Given the description of an element on the screen output the (x, y) to click on. 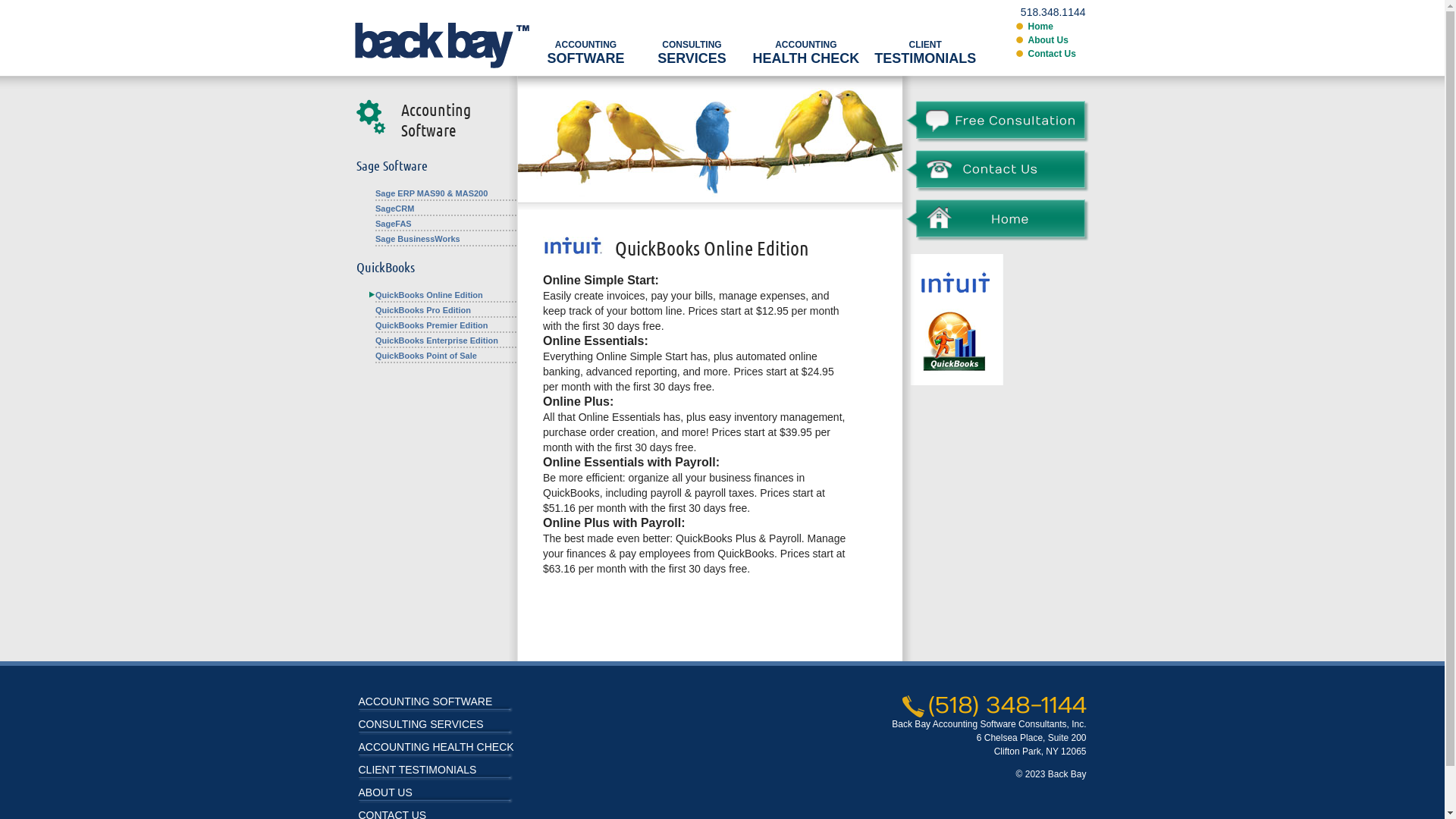
ACCOUNTING
SOFTWARE Element type: text (585, 40)
CLIENT TESTIMONIALS Element type: text (416, 769)
Sage BusinessWorks Element type: text (419, 238)
QuickBooks Element type: text (385, 266)
ACCOUNTING HEALTH CHECK Element type: text (435, 746)
SageCRM Element type: text (396, 208)
CONSULTING SERVICES Element type: text (420, 724)
About Us Element type: text (1048, 39)
QuickBooks Online Edition Element type: text (430, 294)
QuickBooks Premier Edition Element type: text (433, 324)
Home Element type: text (1040, 26)
ABOUT US Element type: text (384, 792)
CONSULTING
SERVICES Element type: text (691, 40)
QuickBooks Enterprise Edition Element type: text (438, 340)
QuickBooks Point of Sale Element type: text (427, 355)
Sage ERP MAS90 & MAS200 Element type: text (433, 192)
Contact Us Element type: text (1052, 53)
ACCOUNTING SOFTWARE Element type: text (424, 701)
QuickBooks Pro Edition Element type: text (424, 309)
CLIENT
TESTIMONIALS Element type: text (924, 40)
SageFAS Element type: text (395, 223)
ACCOUNTING
HEALTH CHECK Element type: text (805, 40)
Sage Software Element type: text (391, 164)
